Given the description of an element on the screen output the (x, y) to click on. 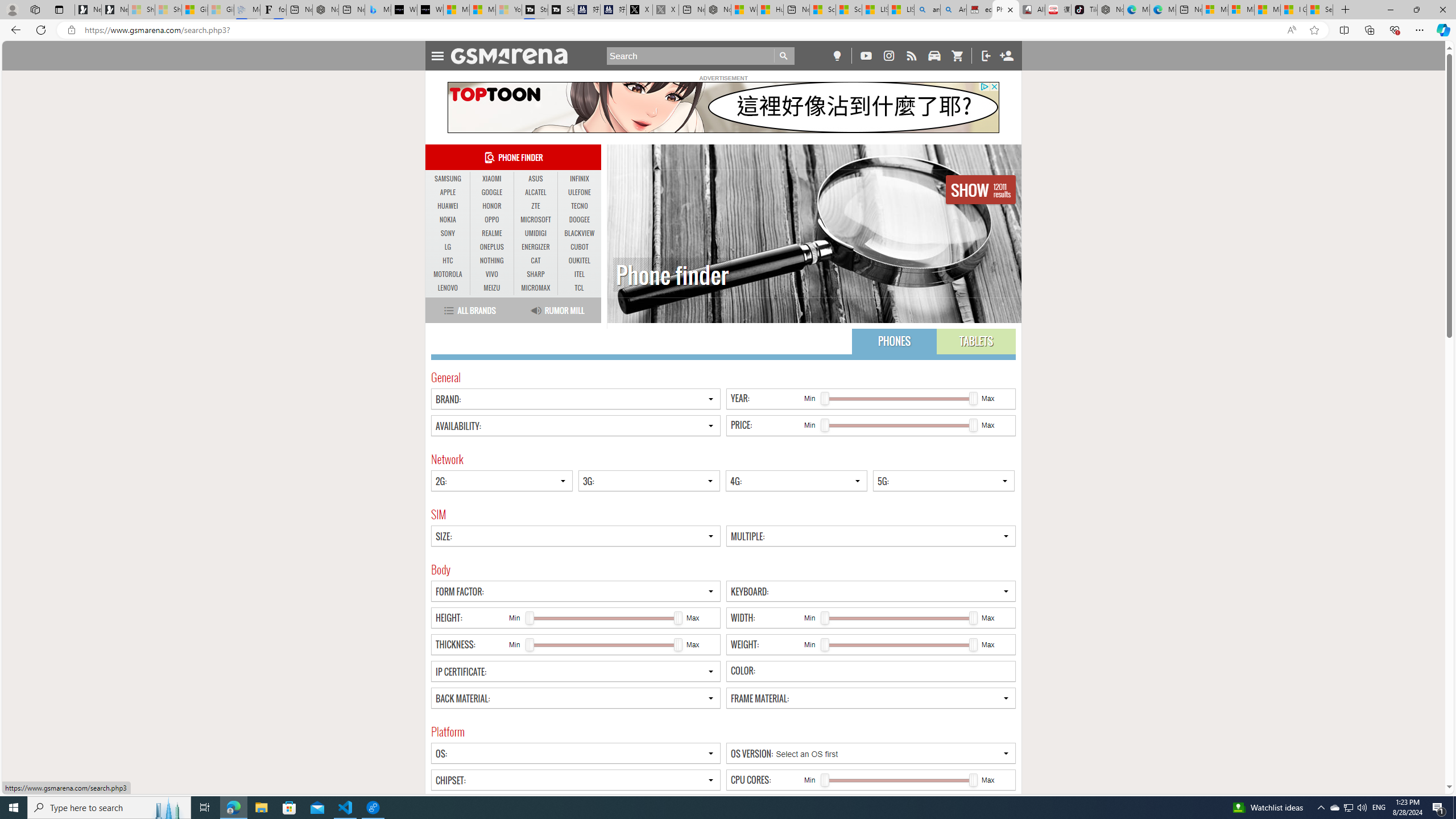
SHARP (535, 273)
Phone Finder - search for a phone by feature - GSMArena.com (1005, 9)
MICROMAX (535, 287)
TECNO (579, 206)
HUAWEI (448, 205)
SONY (448, 233)
LG (448, 246)
XIAOMI (491, 178)
BLACKVIEW (579, 233)
